Given the description of an element on the screen output the (x, y) to click on. 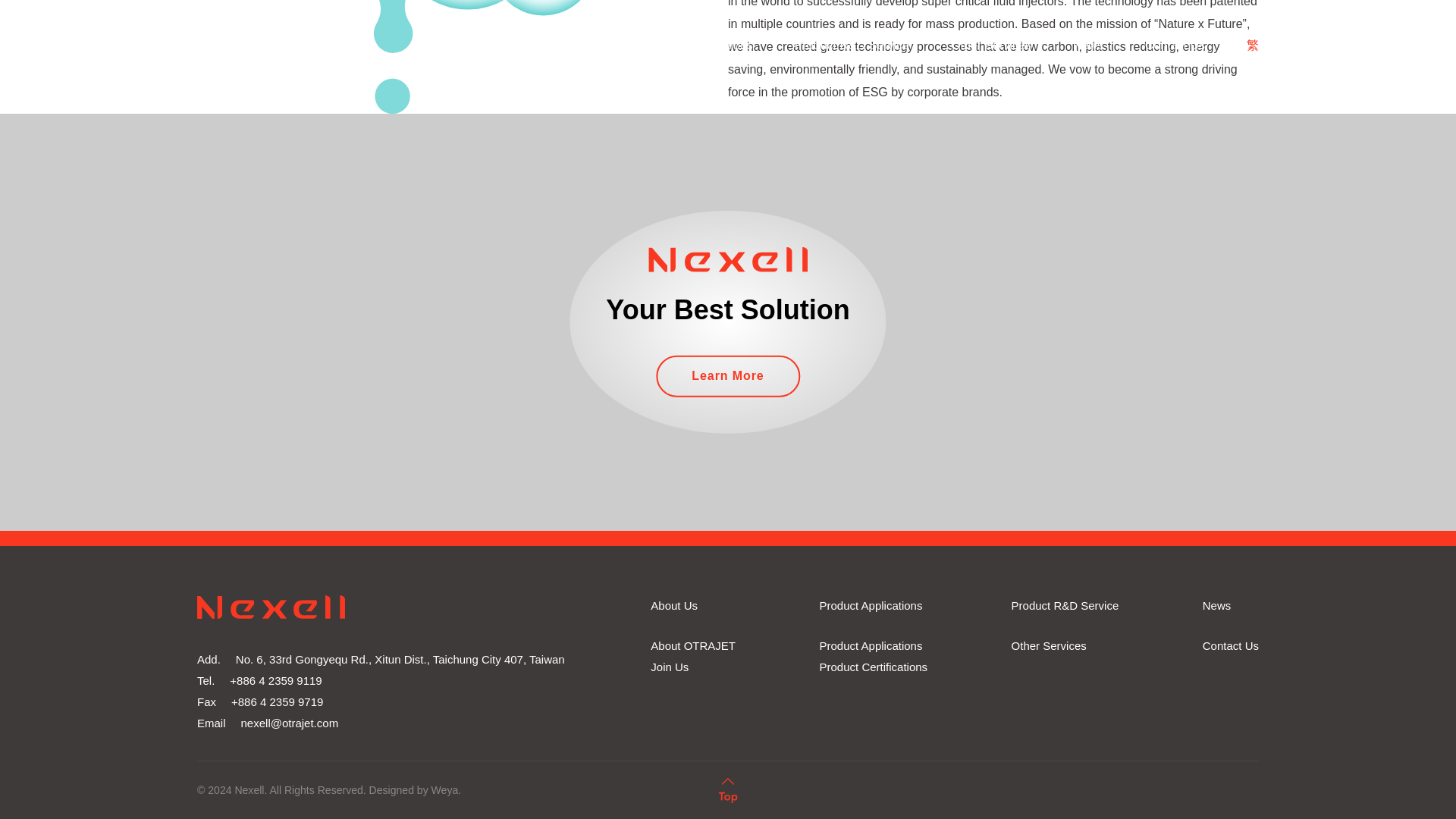
Product Applications (871, 645)
About OTRAJET (692, 645)
Other Services (1048, 645)
News (1216, 605)
Contact Us (1230, 645)
Join Us (669, 667)
Product Certifications (873, 667)
Learn More (727, 376)
